Given the description of an element on the screen output the (x, y) to click on. 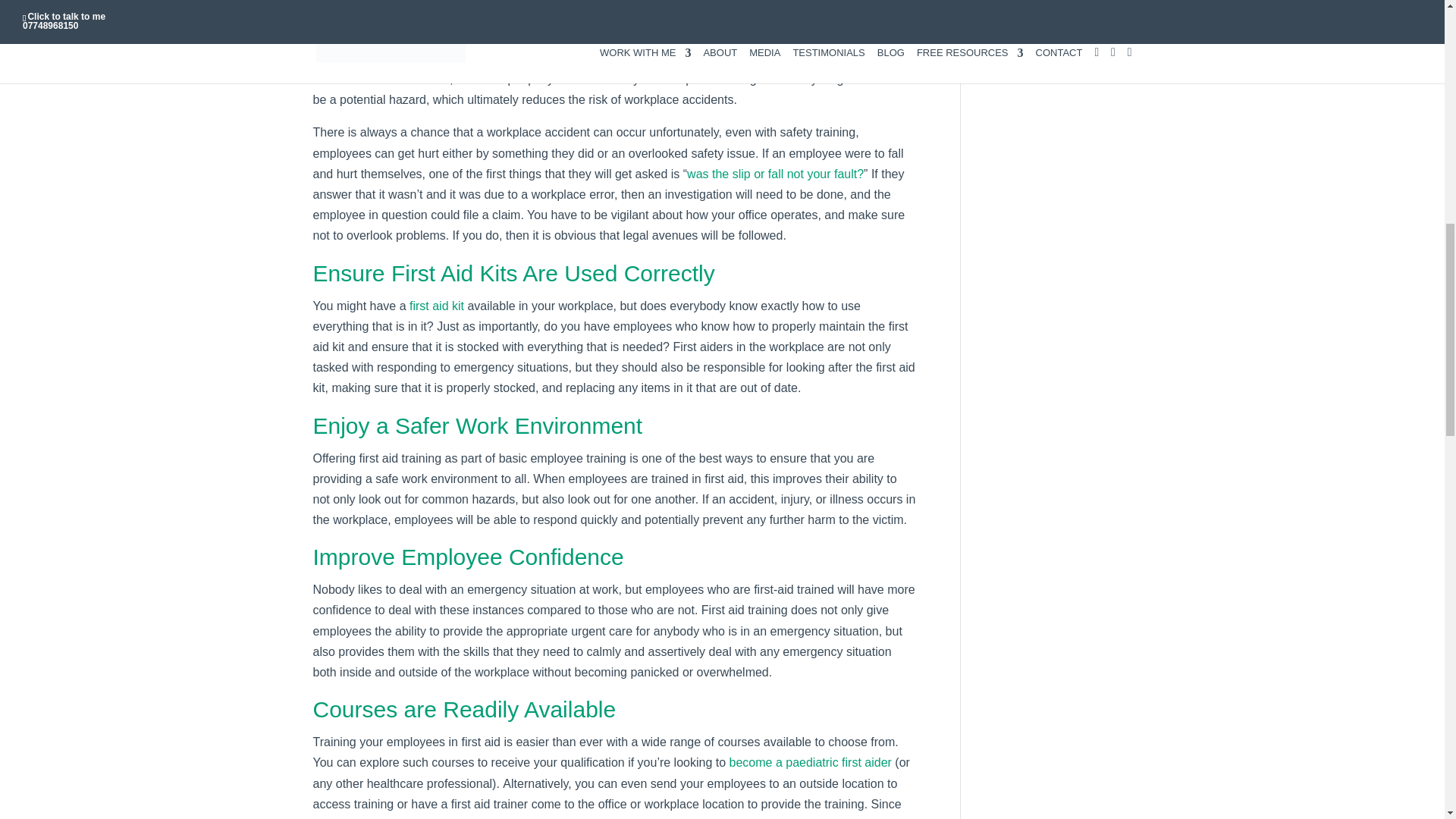
become a paediatric first aider (812, 762)
first aid kit (436, 305)
common risks and safety hazards (553, 58)
was the slip or fall not your fault? (775, 173)
